Given the description of an element on the screen output the (x, y) to click on. 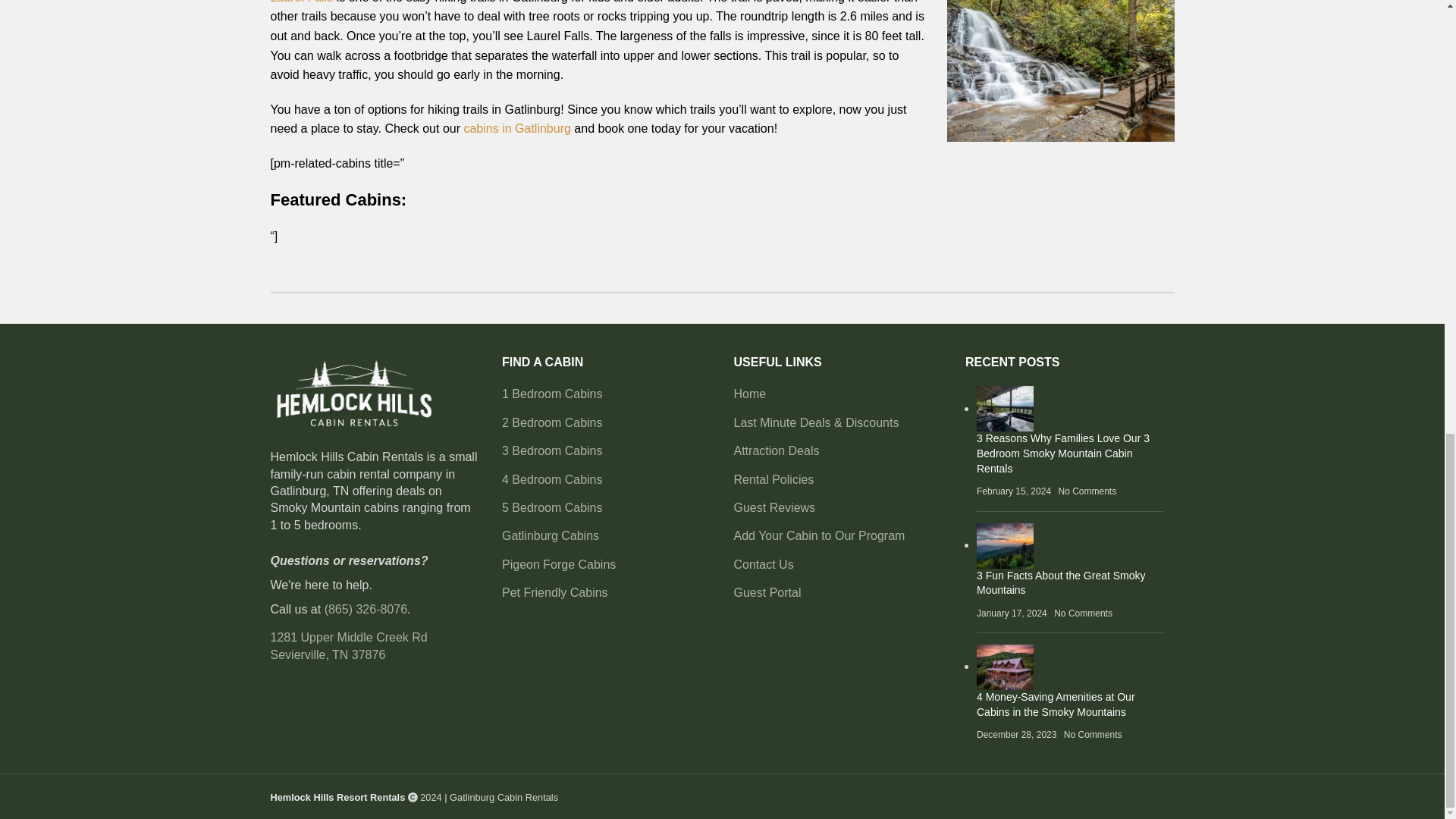
Permalink to 3 Fun Facts About the Great Smoky Mountains (1060, 583)
